Given the description of an element on the screen output the (x, y) to click on. 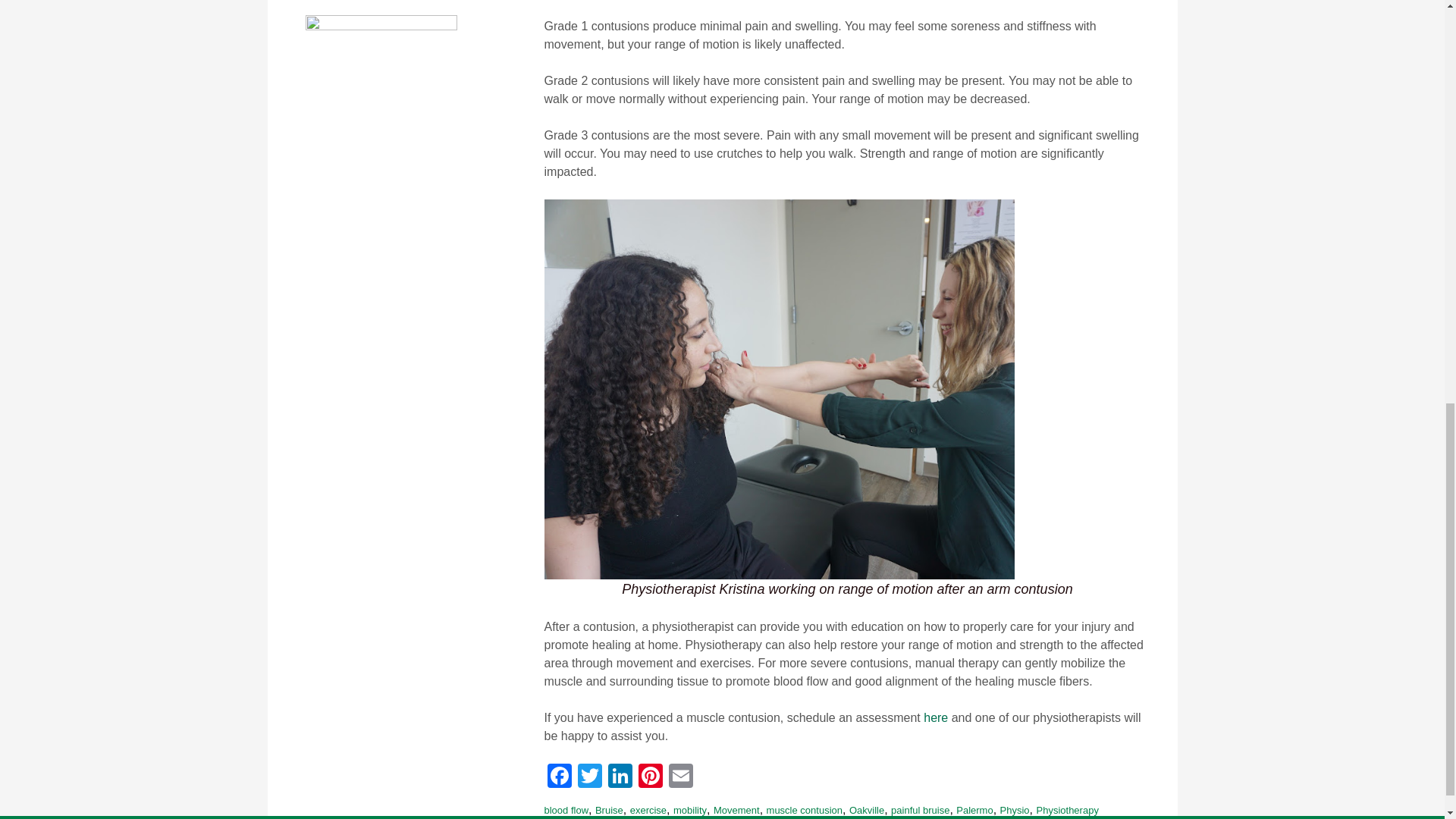
Oakville (865, 809)
here (935, 717)
muscle contusion (805, 809)
LinkedIn (619, 777)
Email (680, 777)
Facebook (559, 777)
mobility (689, 809)
Twitter (590, 777)
blood flow (566, 809)
painful bruise (920, 809)
